Given the description of an element on the screen output the (x, y) to click on. 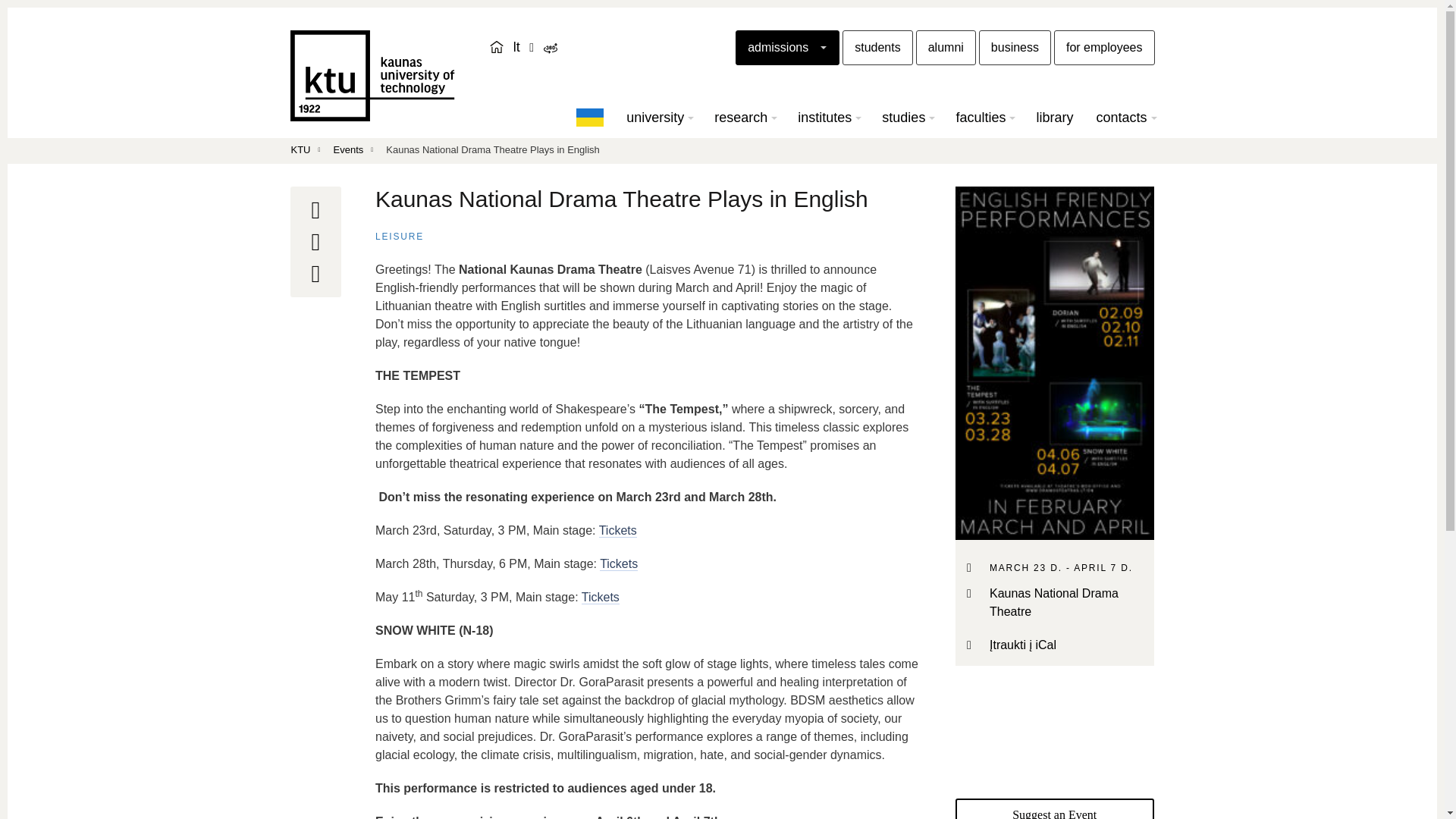
admissions (787, 47)
Kaunas University of Technology (371, 75)
admissions (787, 47)
students (877, 47)
KTU Virtual Tour (549, 48)
en.ktu.edu (496, 47)
for employees (1104, 47)
alumni (945, 47)
students (877, 47)
university (658, 117)
